Given the description of an element on the screen output the (x, y) to click on. 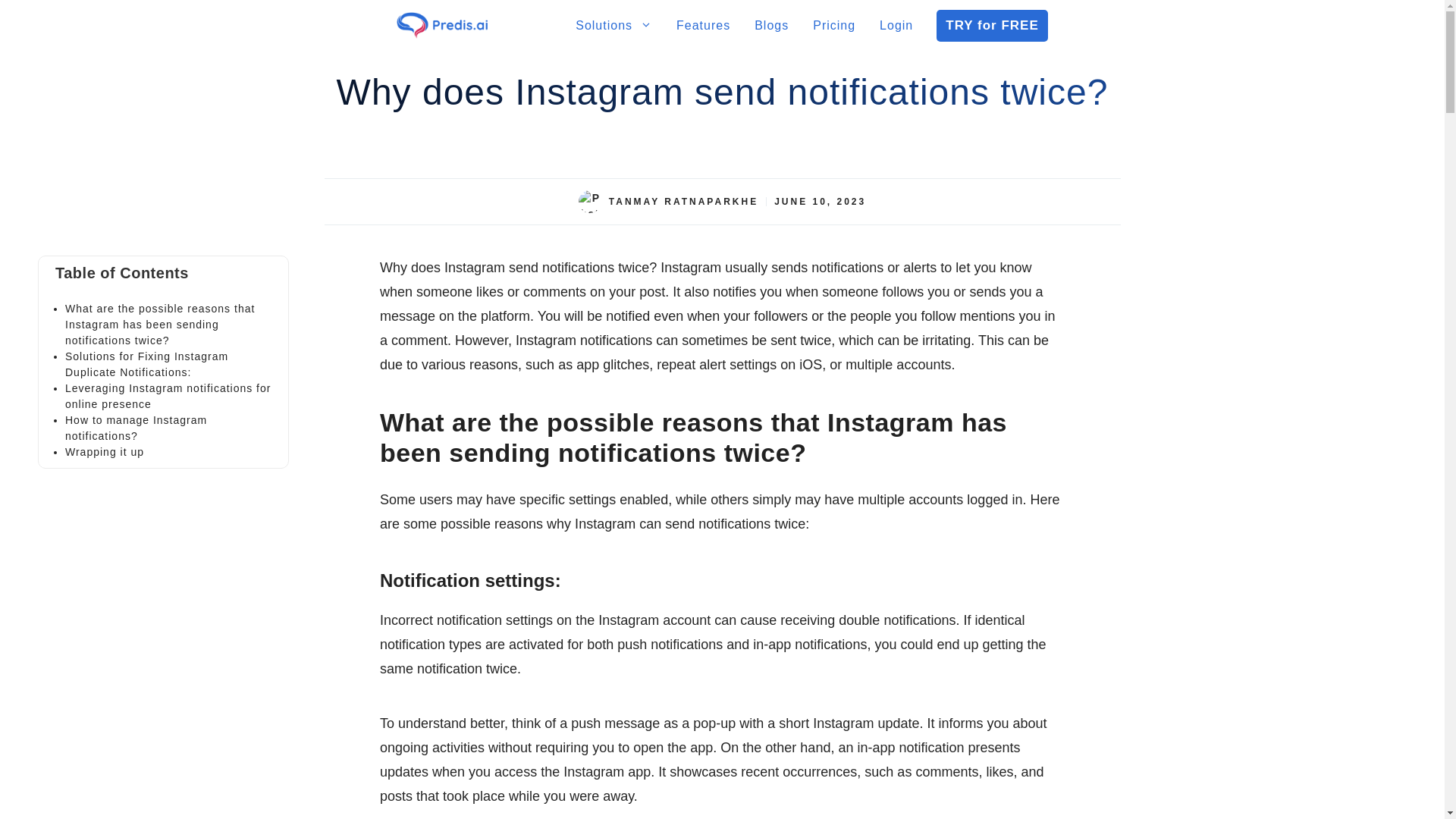
Leveraging Instagram notifications for online presence (167, 396)
Solutions (613, 25)
TRY for FREE (992, 25)
Solutions for Fixing Instagram Duplicate Notifications: (146, 364)
Features (702, 25)
Wrapping it up (104, 451)
Pricing (833, 25)
Login (895, 25)
Blogs (771, 25)
How to manage Instagram notifications? (135, 428)
